Given the description of an element on the screen output the (x, y) to click on. 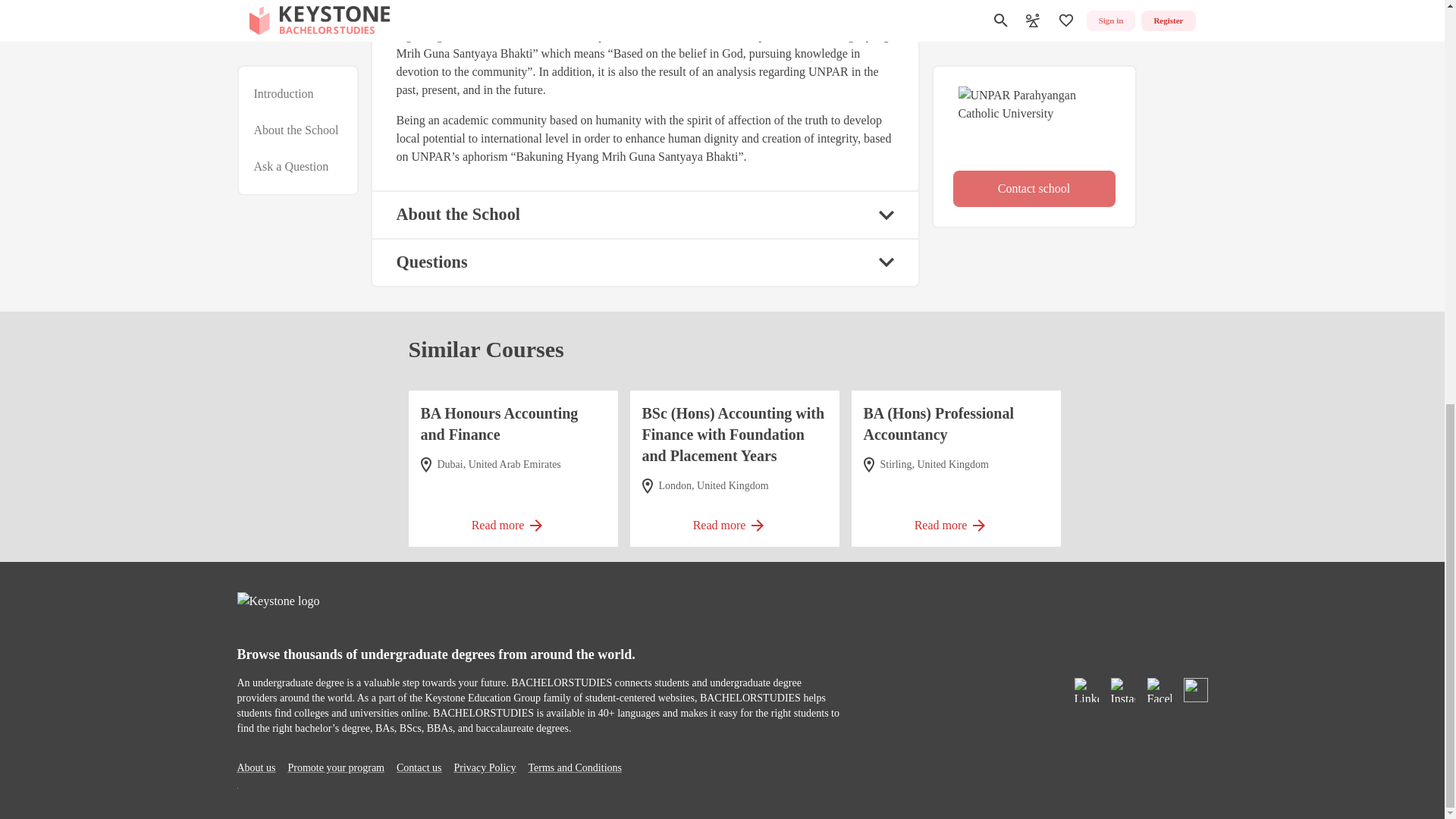
Read more (734, 520)
Read more (955, 520)
Read more (512, 520)
